Given the description of an element on the screen output the (x, y) to click on. 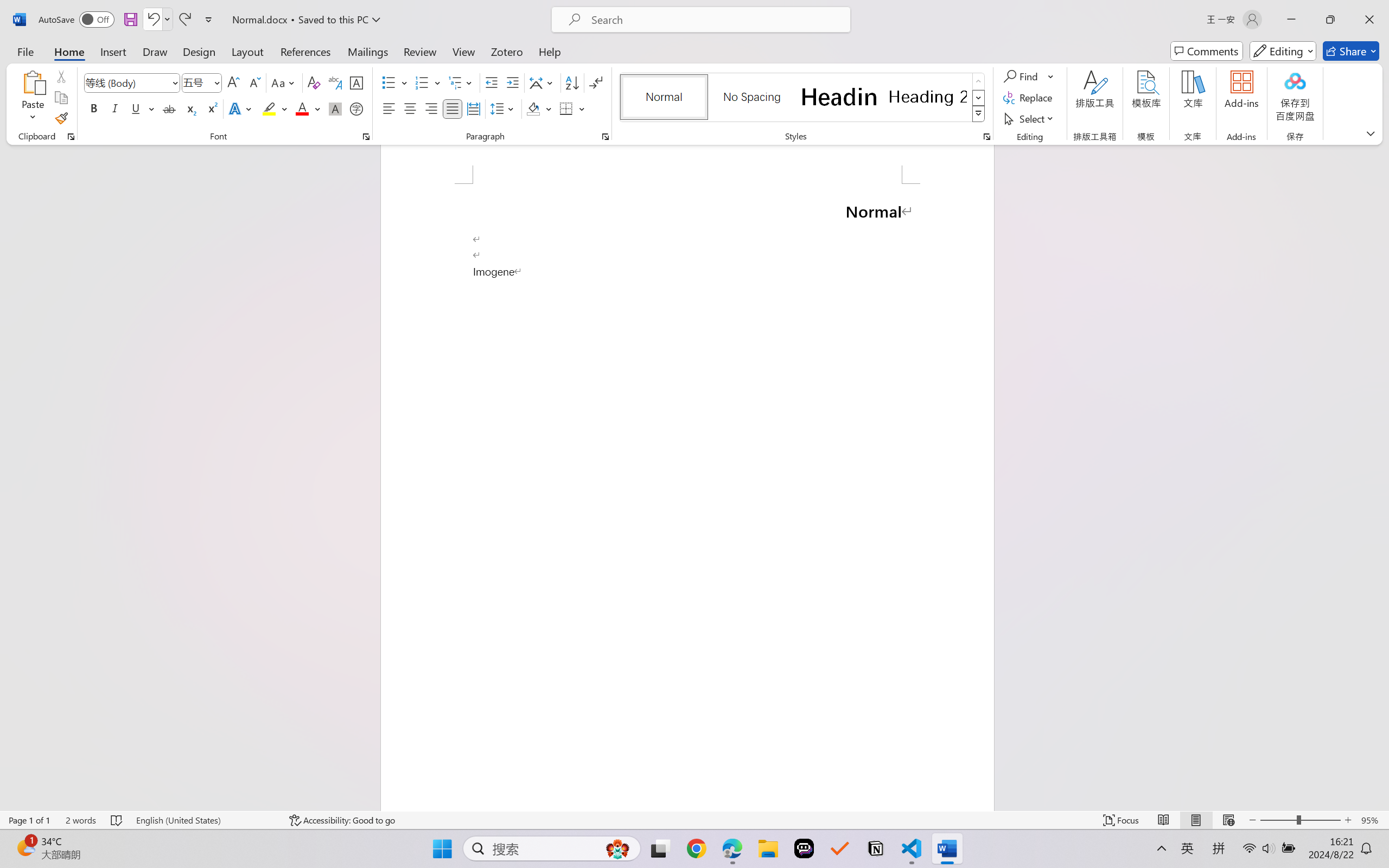
Font... (365, 136)
Distributed (473, 108)
Redo Style (184, 19)
